Given the description of an element on the screen output the (x, y) to click on. 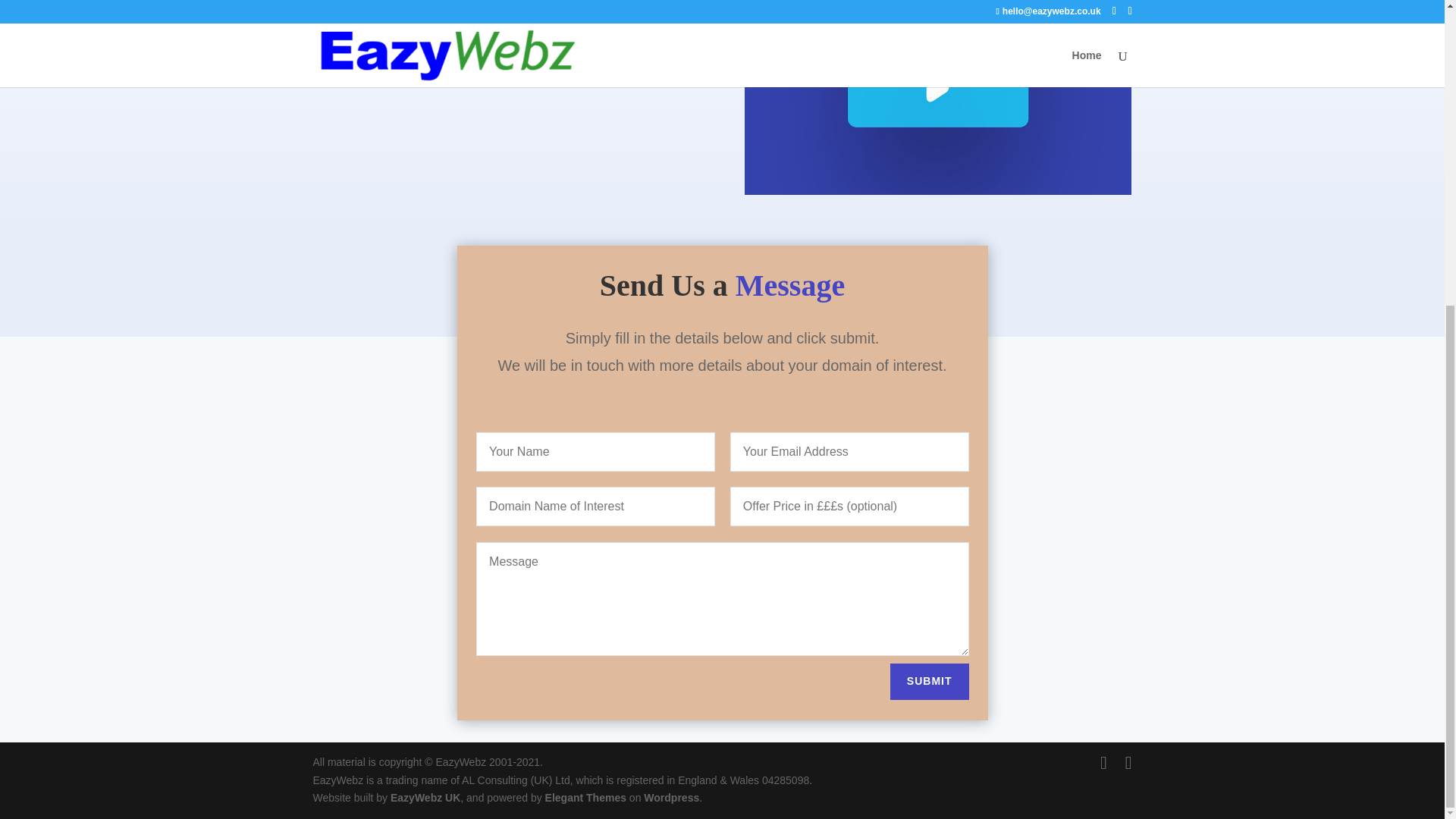
EazyWebz UK (425, 797)
SUBMIT (929, 681)
Elegant Themes (585, 797)
Wordpress (670, 797)
project-7 (937, 97)
